Given the description of an element on the screen output the (x, y) to click on. 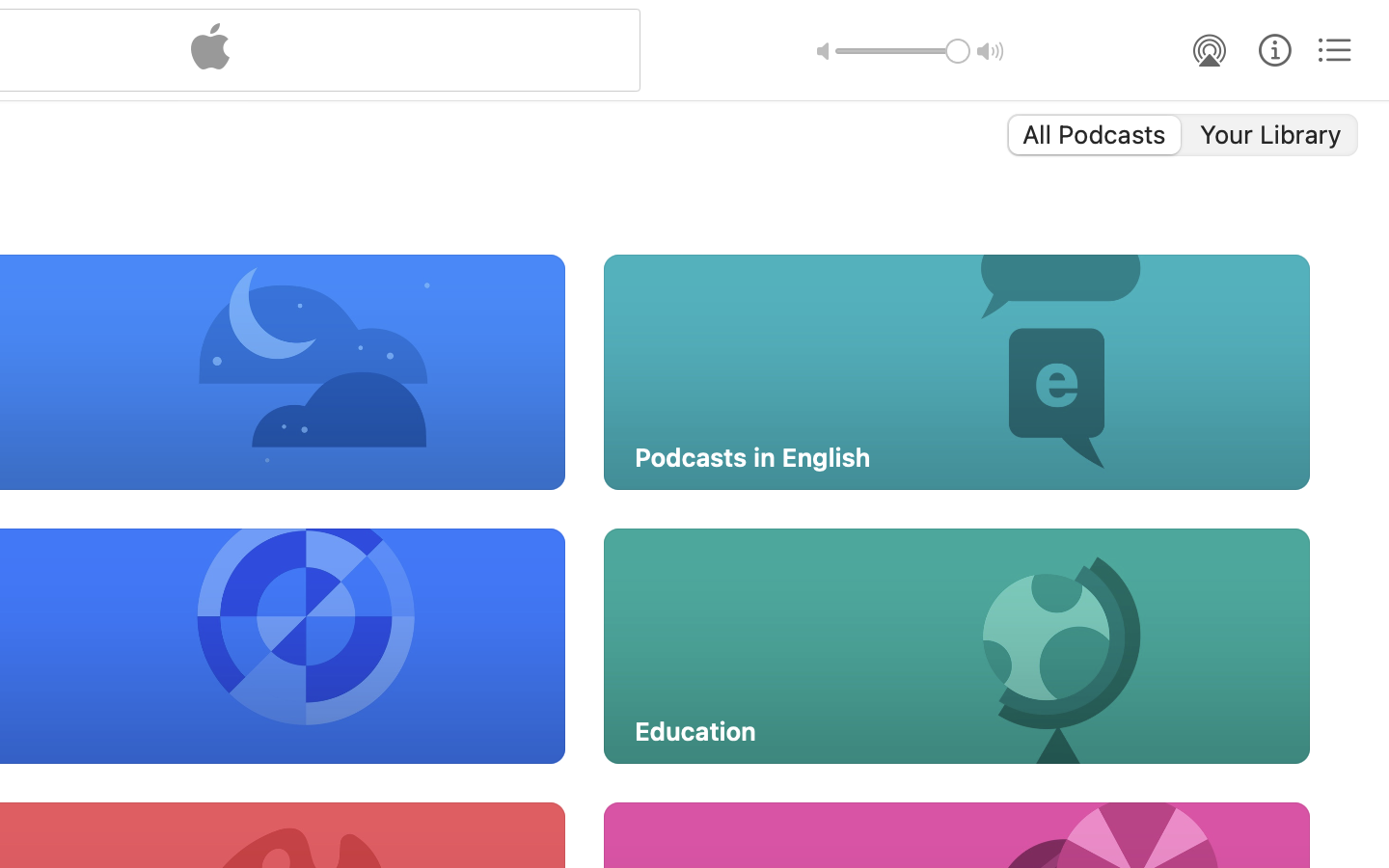
1 Element type: AXRadioButton (1092, 134)
0 Element type: AXRadioButton (1271, 134)
1.0 Element type: AXSlider (902, 50)
